Given the description of an element on the screen output the (x, y) to click on. 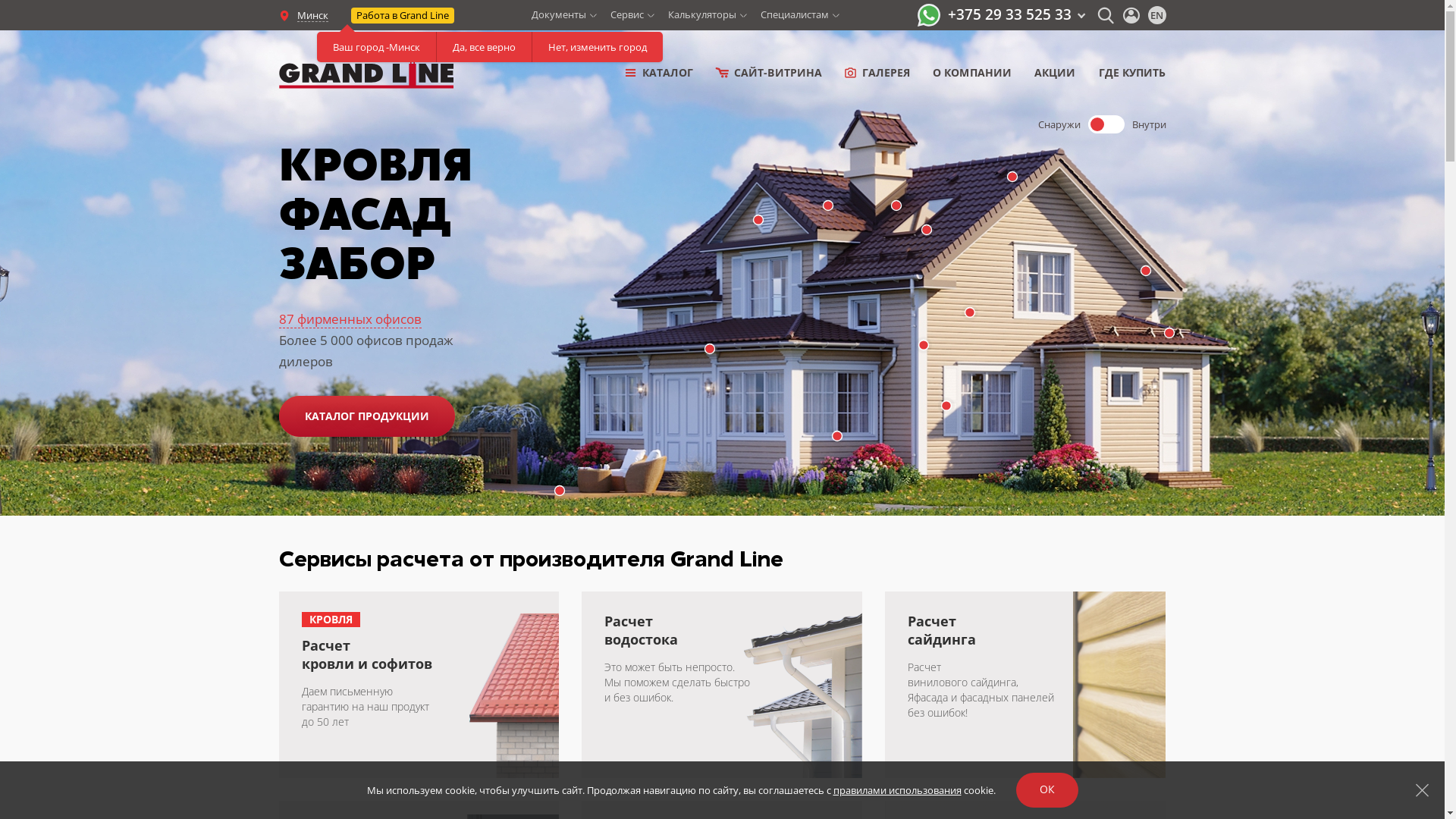
EN Element type: text (1157, 15)
+375 29 33 525 33 Element type: text (1016, 14)
